Given the description of an element on the screen output the (x, y) to click on. 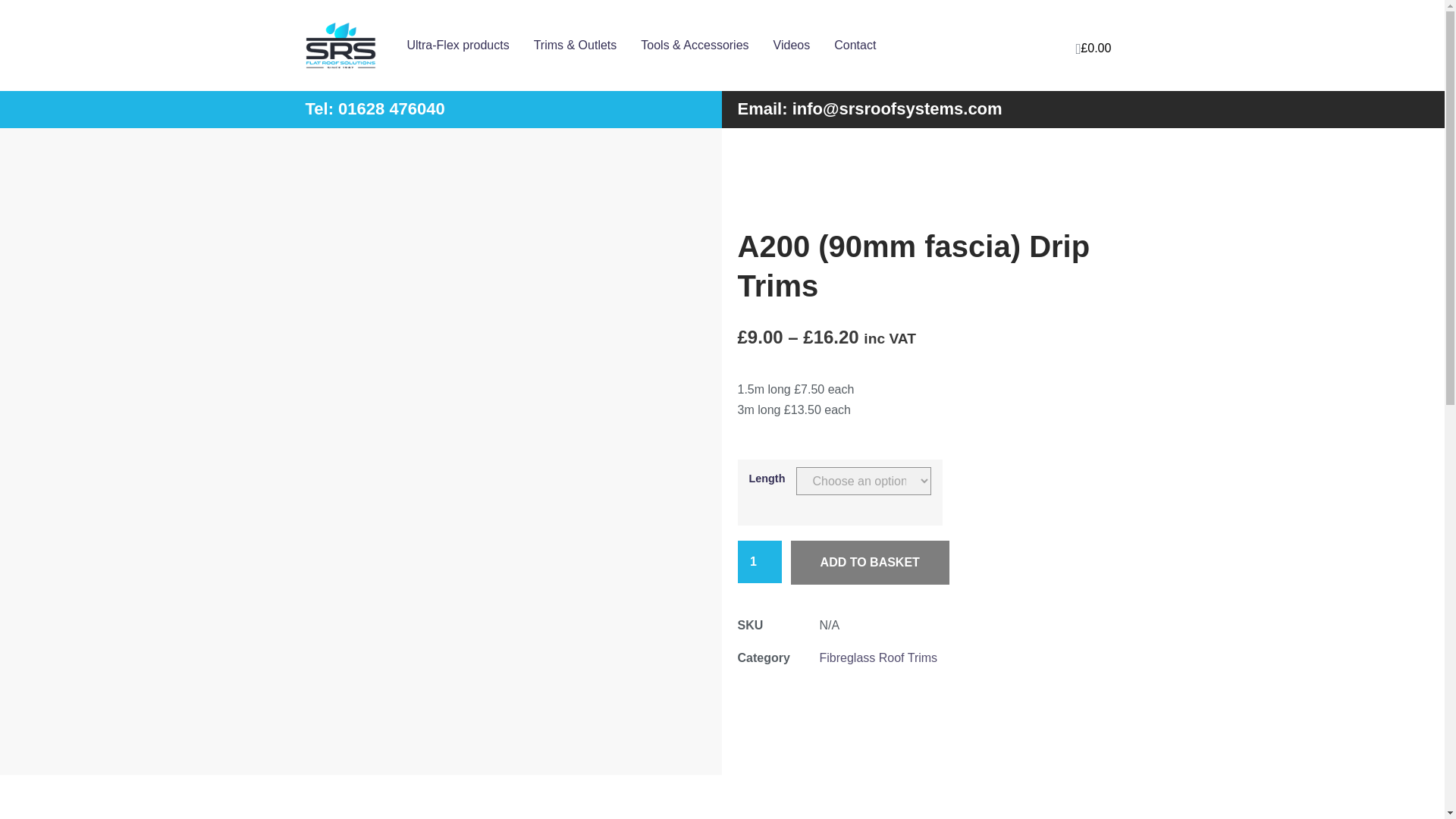
Videos (791, 45)
1 (758, 562)
Contact (855, 45)
Ultra-Flex products (457, 45)
